Given the description of an element on the screen output the (x, y) to click on. 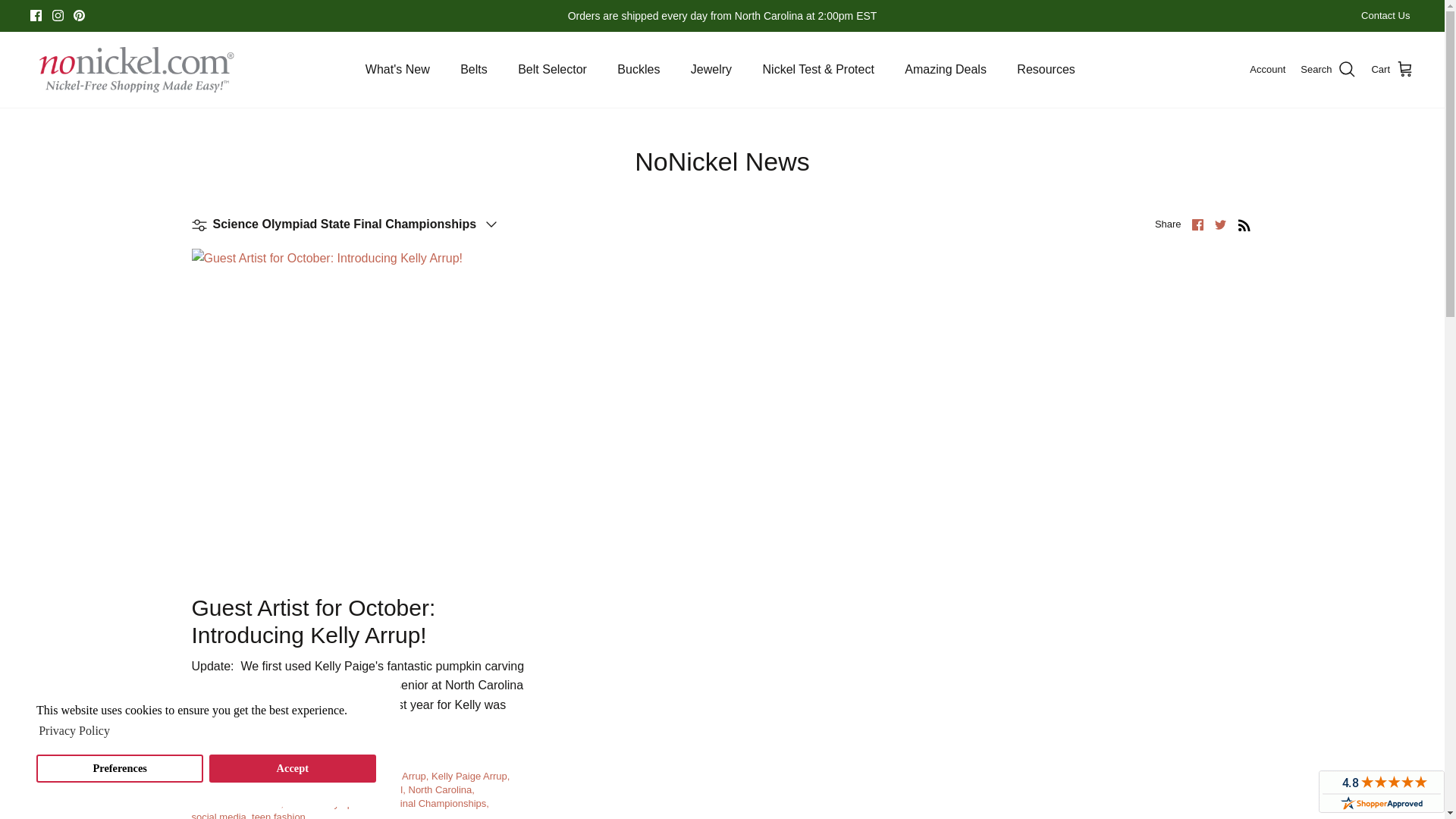
RSS (1243, 225)
NoNickel.com (136, 69)
Show articles tagged nickel allergic (266, 789)
Show articles tagged NC State (211, 789)
Show articles tagged Kelly Paige Arrup (469, 776)
Facebook (36, 15)
Show articles tagged Kelly Arrup (403, 776)
Show articles tagged North Carolina State (236, 803)
Contact Us (1385, 16)
Twitter (1219, 224)
What's New (398, 69)
Pinterest (79, 15)
Show articles tagged NoNickel (384, 789)
Show articles tagged social media (219, 815)
